Given the description of an element on the screen output the (x, y) to click on. 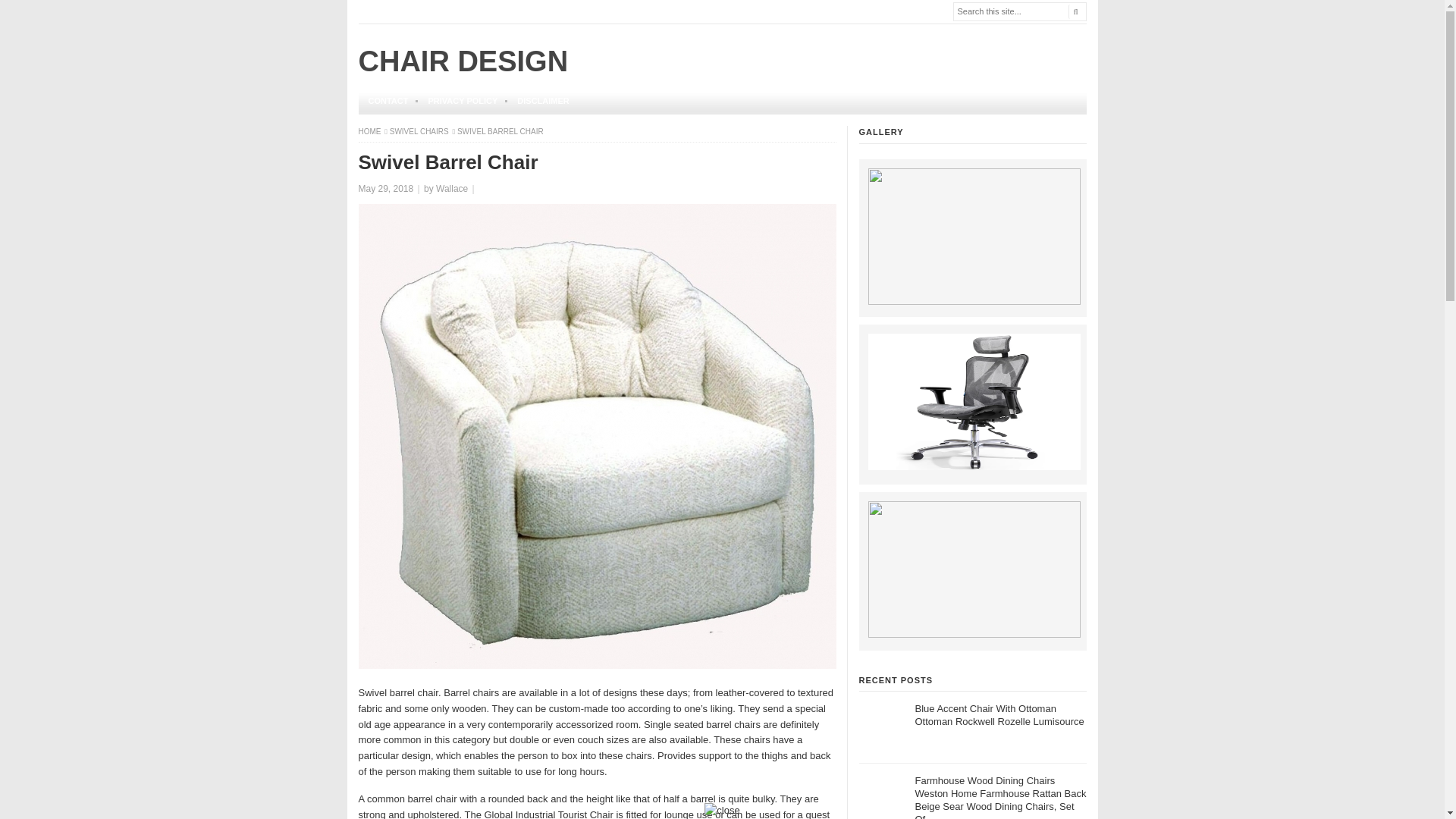
CHAIR DESIGN (462, 61)
HOME (369, 131)
close button (721, 811)
CONTACT (387, 100)
DISCLAIMER (542, 100)
PRIVACY POLICY (461, 100)
SWIVEL CHAIRS (419, 131)
Wallace (451, 188)
Chair Design (369, 131)
